Given the description of an element on the screen output the (x, y) to click on. 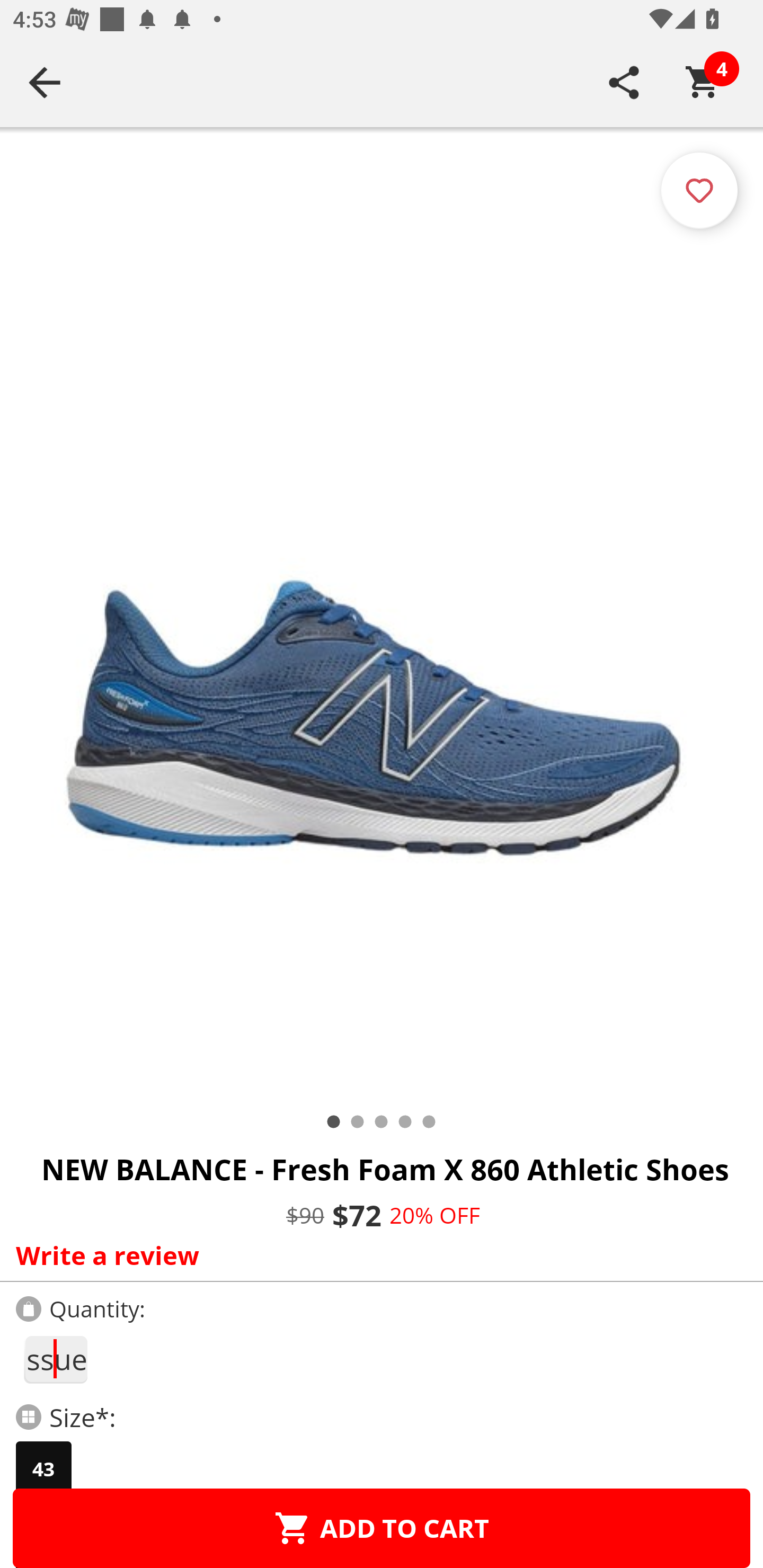
Navigate up (44, 82)
SHARE (623, 82)
Cart (703, 81)
Write a review (377, 1255)
1lamptissue (55, 1358)
43 (43, 1468)
ADD TO CART (381, 1528)
